Given the description of an element on the screen output the (x, y) to click on. 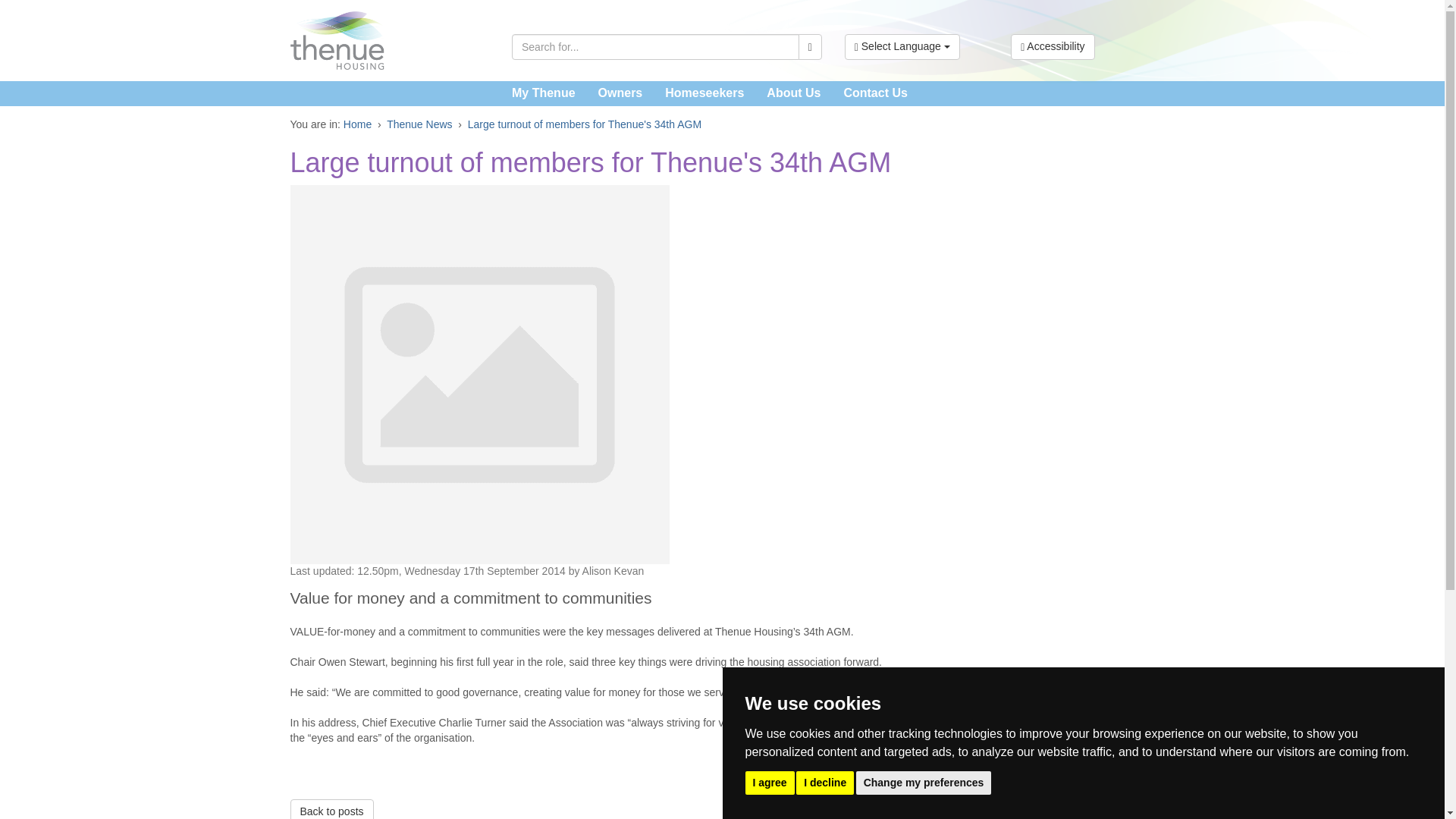
Select Language (901, 46)
I agree (768, 781)
I decline (824, 781)
Owners (619, 93)
My Thenue (543, 93)
Change my preferences (923, 781)
Thenue Housing Association Home Page (389, 40)
Homeseekers (704, 93)
